Given the description of an element on the screen output the (x, y) to click on. 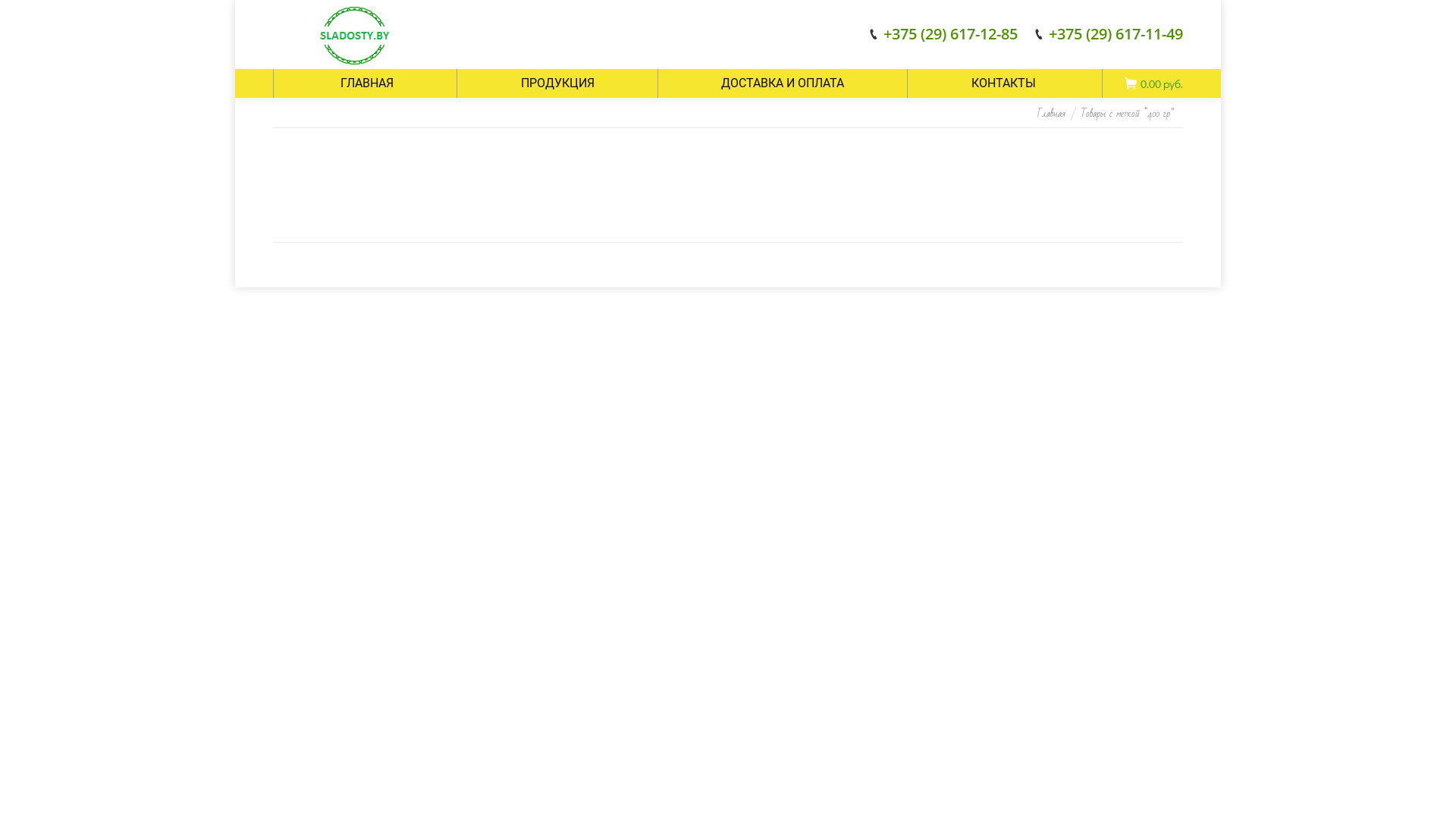
+375 (29) 617-11-49 Element type: text (1115, 33)
+375 (29) 617-12-85 Element type: text (950, 33)
